Given the description of an element on the screen output the (x, y) to click on. 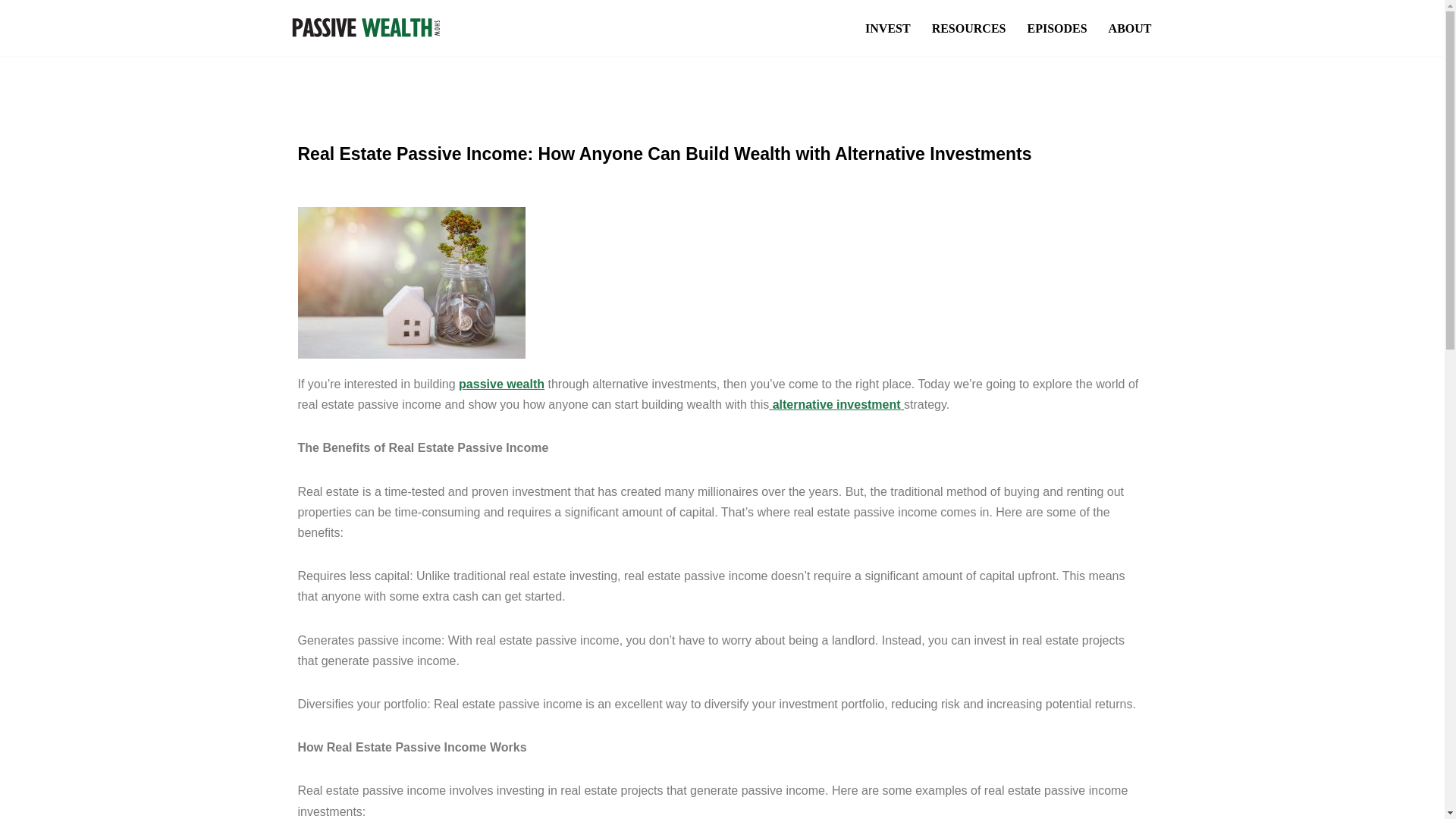
alternative investment (836, 404)
RESOURCES (968, 28)
passive wealth (502, 383)
ABOUT (1129, 28)
INVEST (887, 28)
EPISODES (1056, 28)
Skip to content (11, 31)
